Given the description of an element on the screen output the (x, y) to click on. 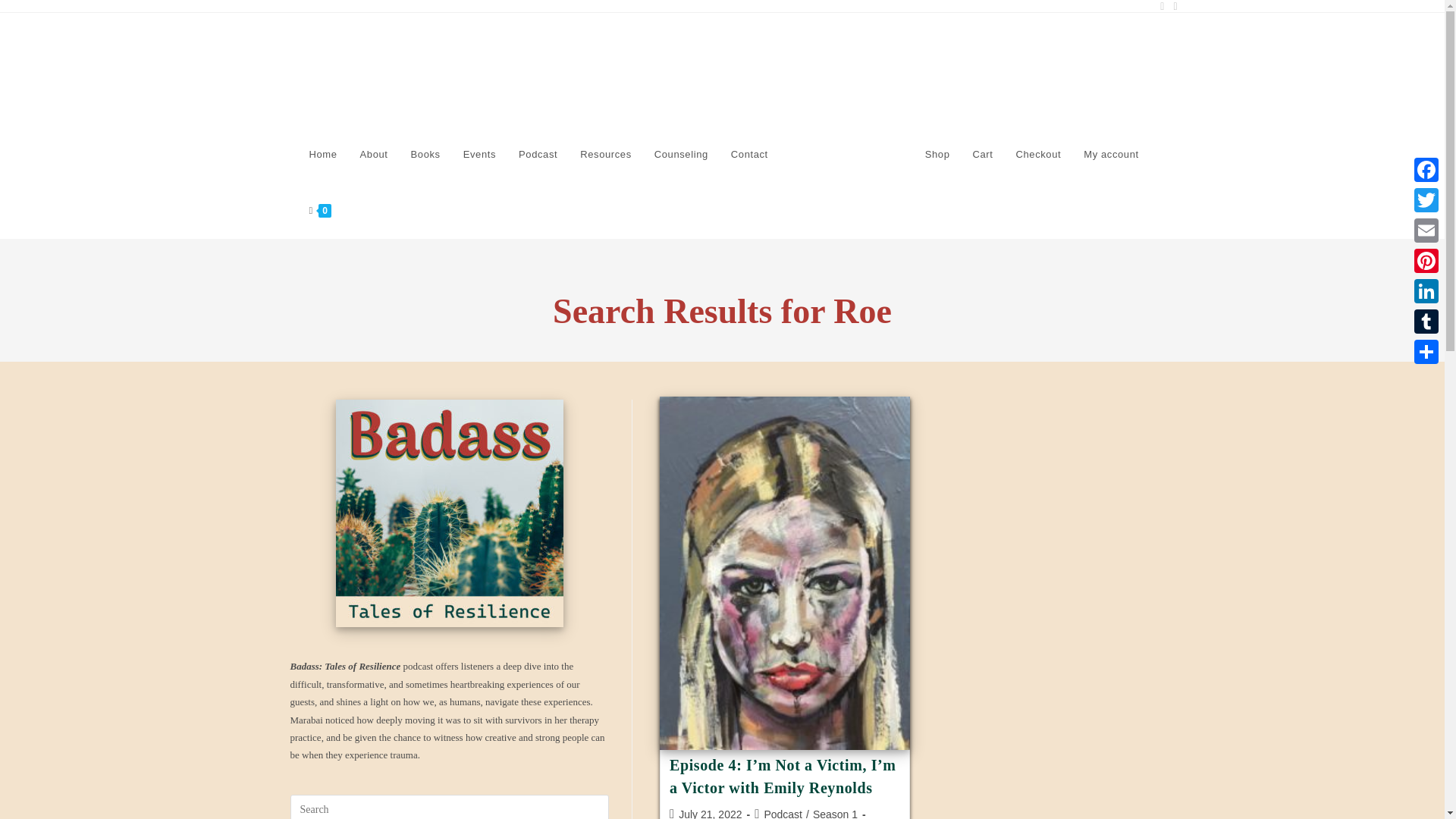
Resources (606, 154)
Podcast (537, 154)
Books (424, 154)
Cart (982, 154)
Checkout (1037, 154)
My account (1110, 154)
Podcast (782, 813)
Events (478, 154)
INVITE ME TO SPEAK (846, 154)
Home (322, 154)
Season 1 (834, 813)
Contact (748, 154)
Shop (937, 154)
Counseling (681, 154)
About (373, 154)
